Given the description of an element on the screen output the (x, y) to click on. 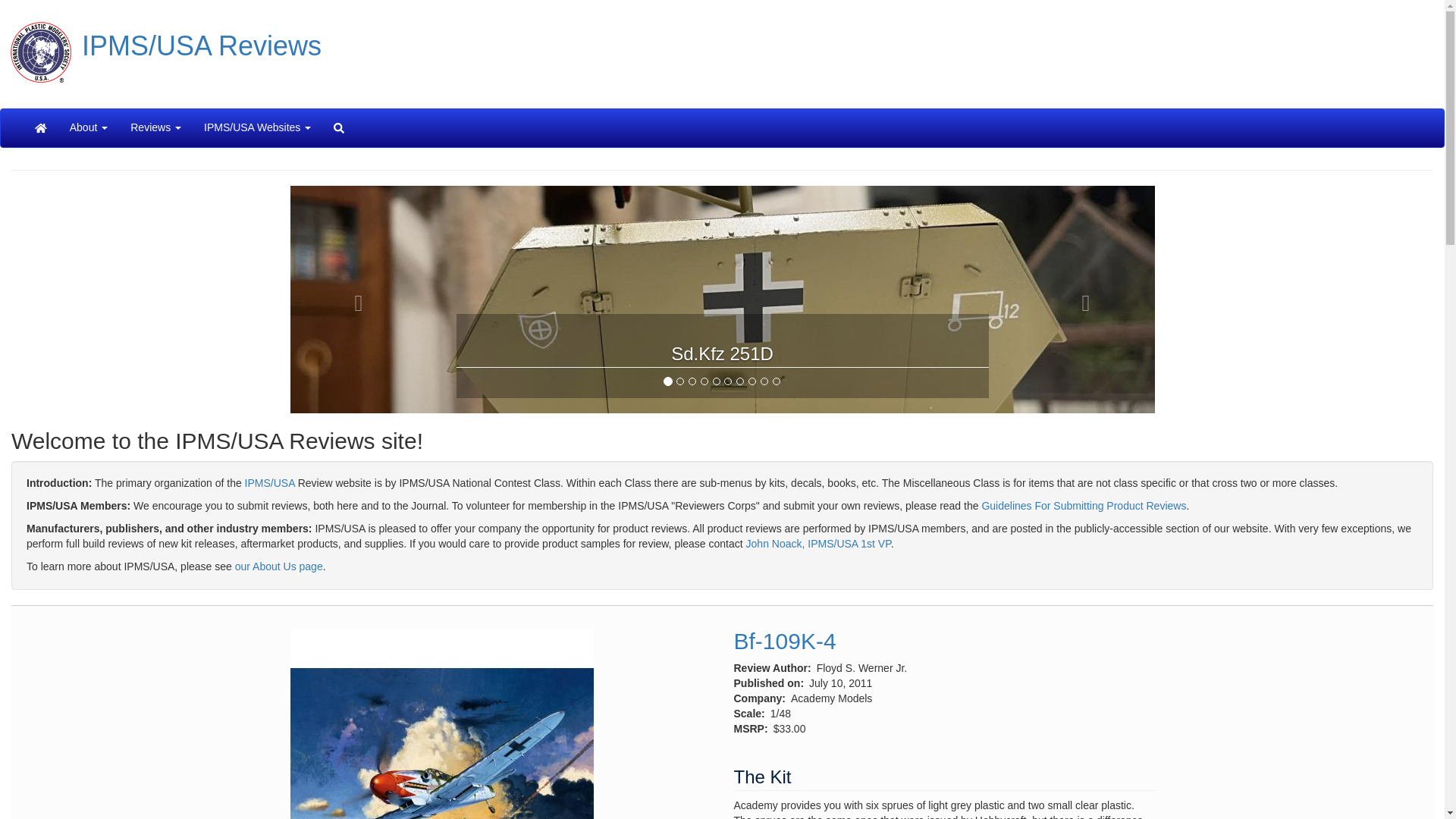
About (88, 127)
Reviews (155, 127)
Guidelines For Submitting Product Reviews (1083, 505)
our About Us page (278, 566)
